Given the description of an element on the screen output the (x, y) to click on. 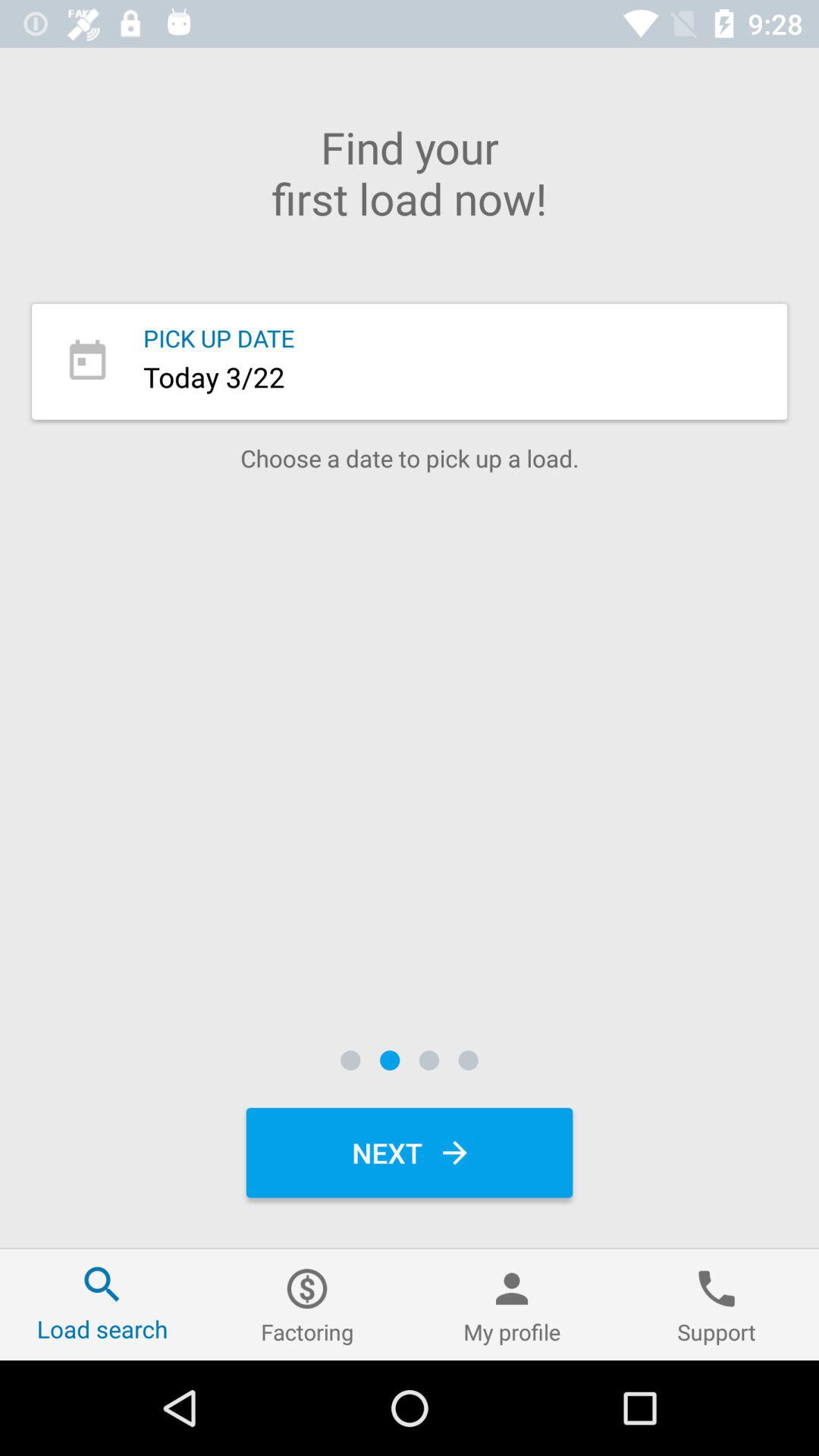
turn on item to the left of factoring icon (102, 1304)
